Given the description of an element on the screen output the (x, y) to click on. 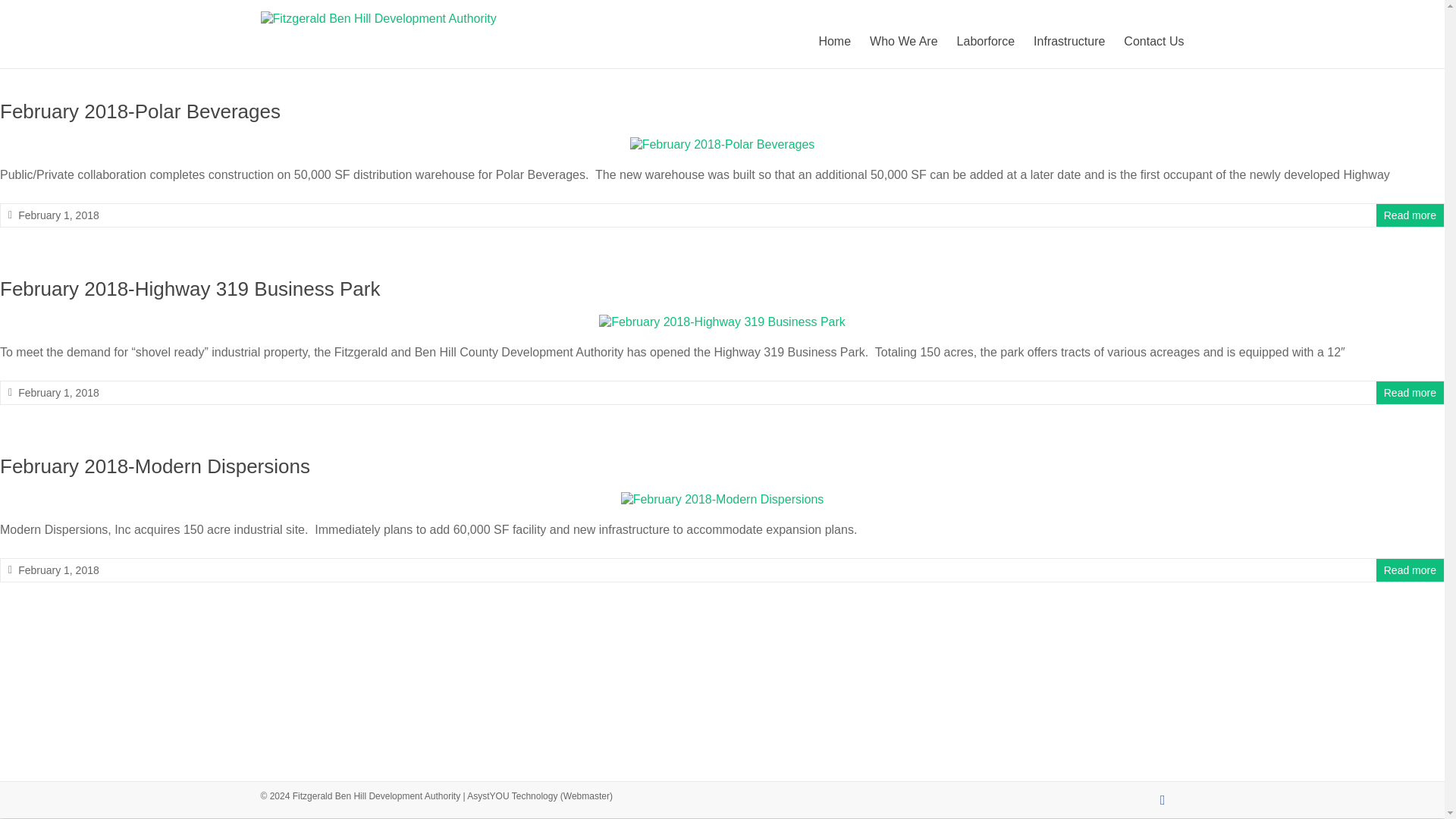
Fitzgerald Ben Hill Development Authority (339, 88)
3:54 pm (58, 215)
February 1, 2018 (58, 392)
February 2018-Highway 319 Business Park (721, 321)
Infrastructure (1069, 41)
February 2018-Highway 319 Business Park (721, 322)
February 2018-Highway 319 Business Park (190, 288)
February 2018-Modern Dispersions (155, 466)
3:50 pm (58, 392)
February 2018-Modern Dispersions (155, 466)
